Given the description of an element on the screen output the (x, y) to click on. 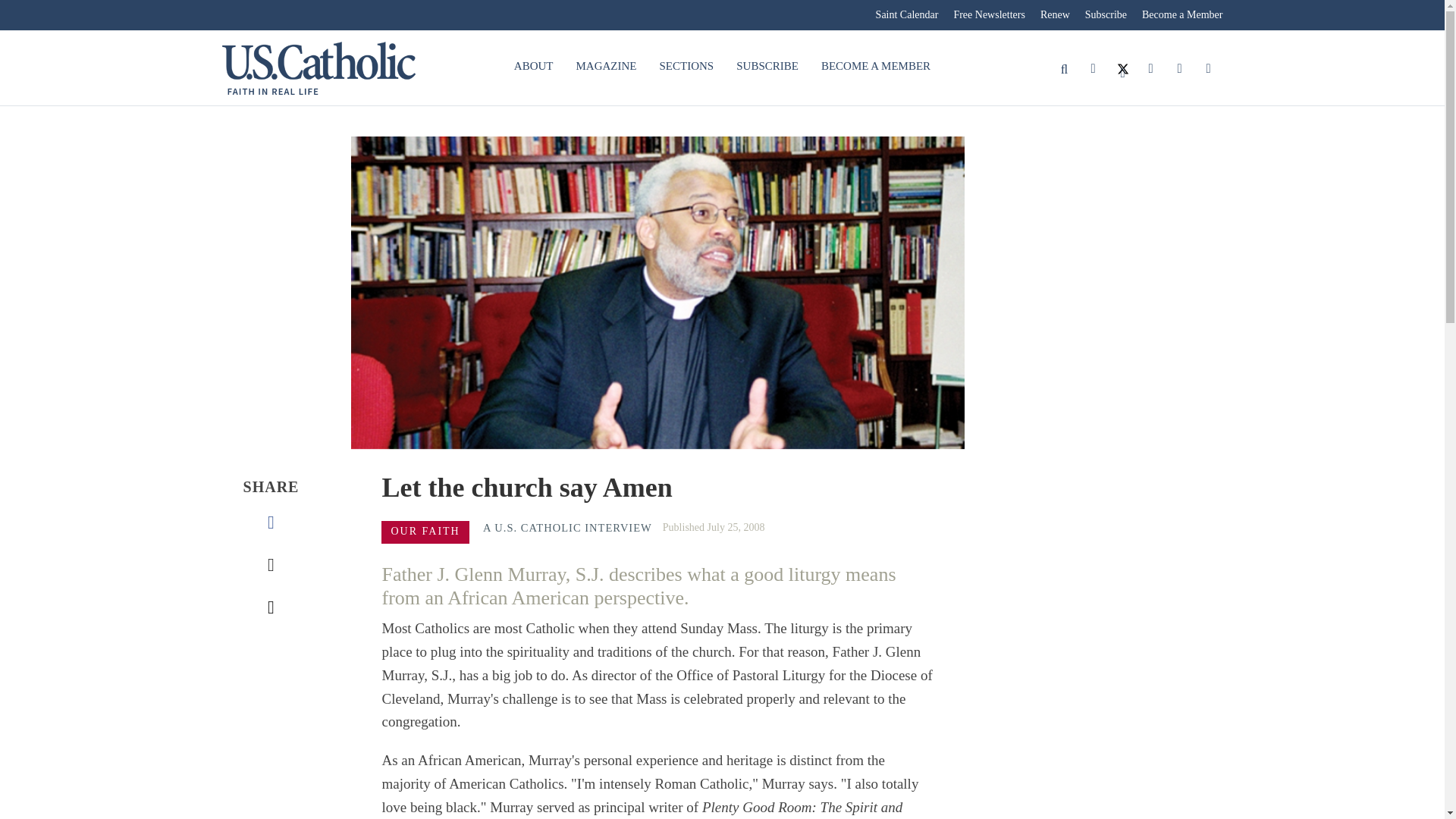
Become a Member (1178, 15)
Saint Calendar (906, 15)
SUBSCRIBE (767, 66)
ABOUT (533, 66)
Subscribe (1105, 15)
Free Newsletters (988, 15)
SECTIONS (686, 66)
MAGAZINE (605, 66)
Renew (1054, 15)
BECOME A MEMBER (875, 66)
